Given the description of an element on the screen output the (x, y) to click on. 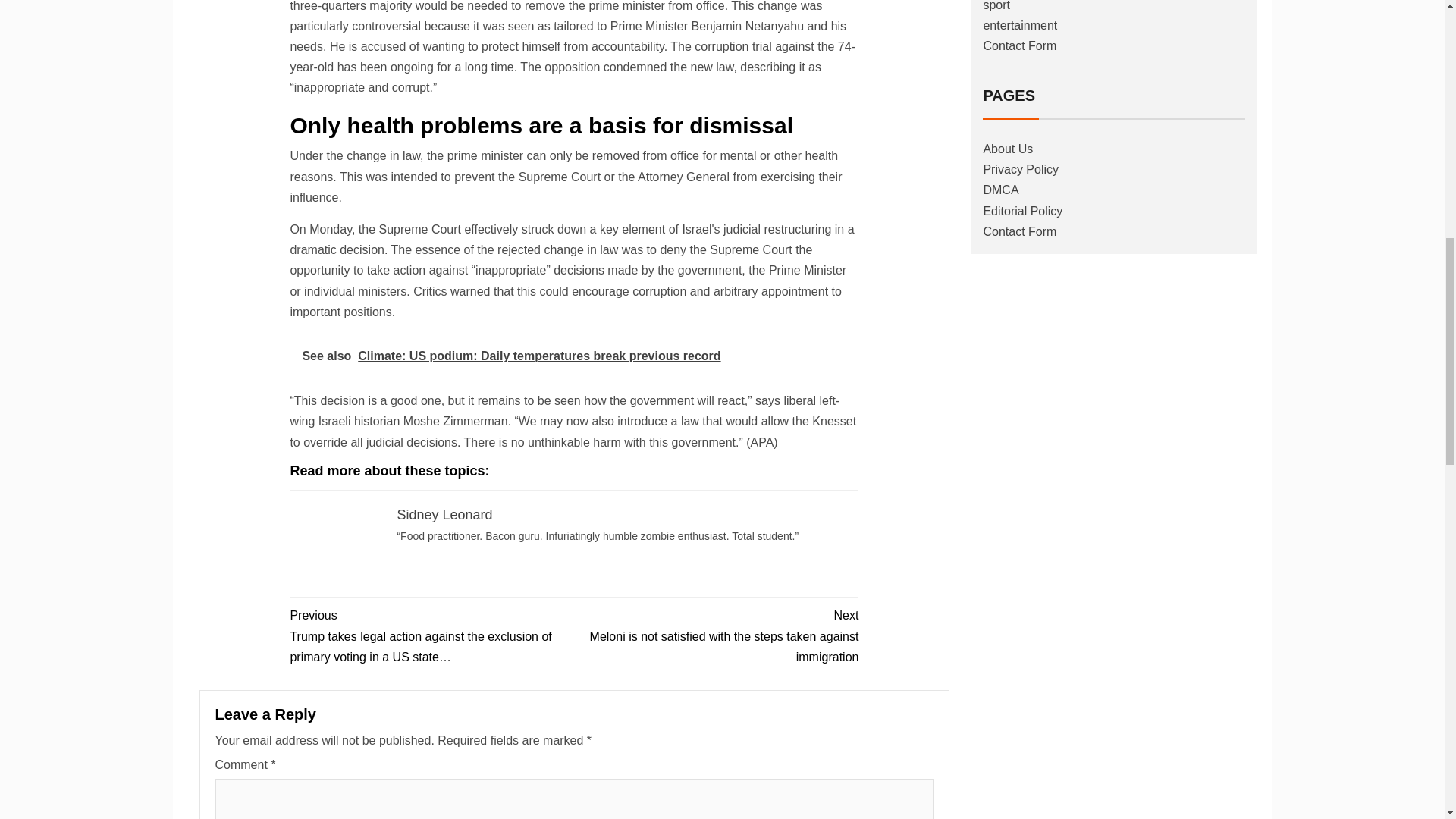
Sidney Leonard (444, 514)
